Given the description of an element on the screen output the (x, y) to click on. 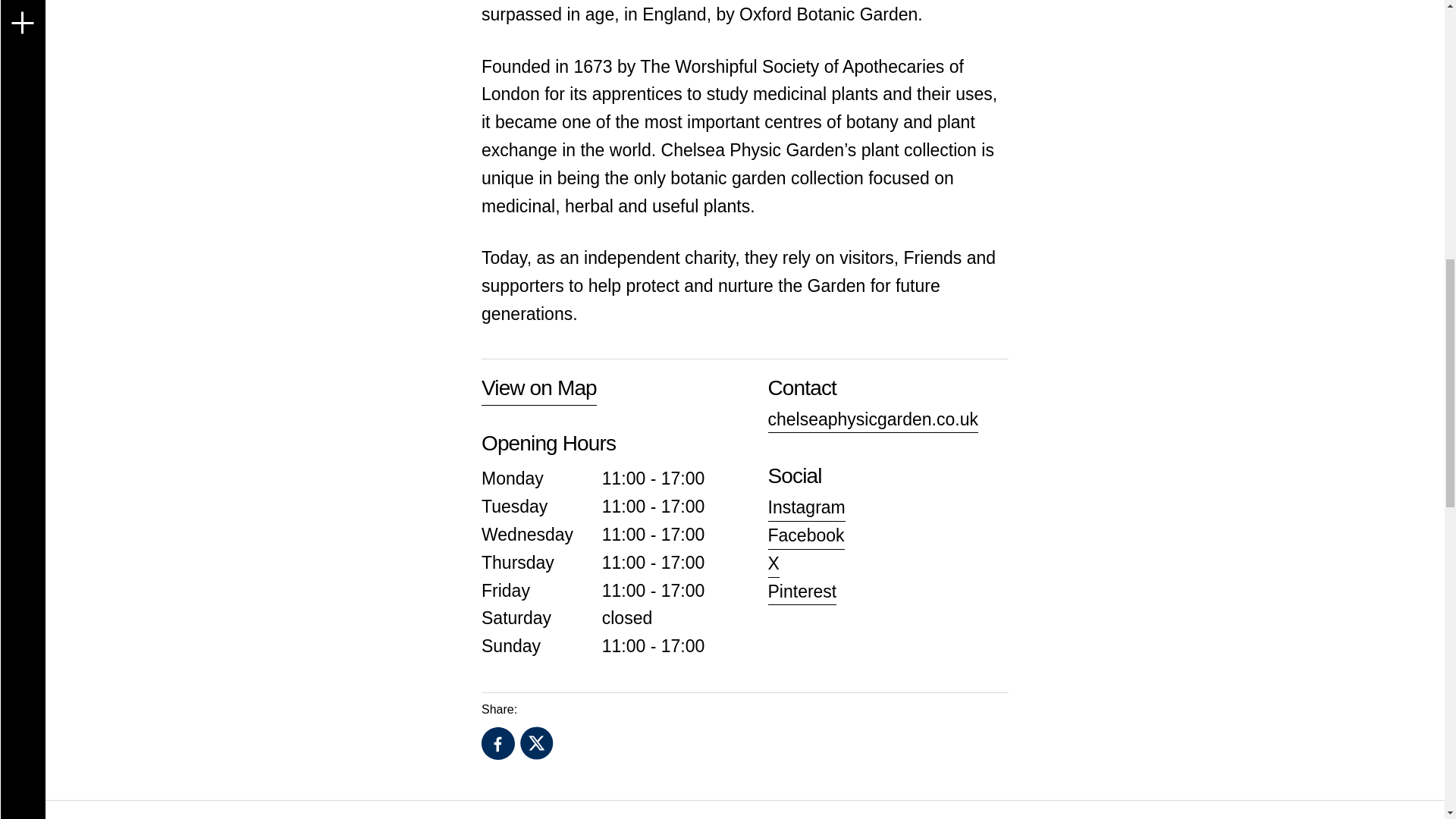
View on Map (538, 388)
Facebook (498, 743)
X (772, 563)
Pinterest (801, 592)
chelseaphysicgarden.co.uk (871, 419)
Twitter (536, 743)
Facebook (805, 535)
Instagram (805, 507)
